Given the description of an element on the screen output the (x, y) to click on. 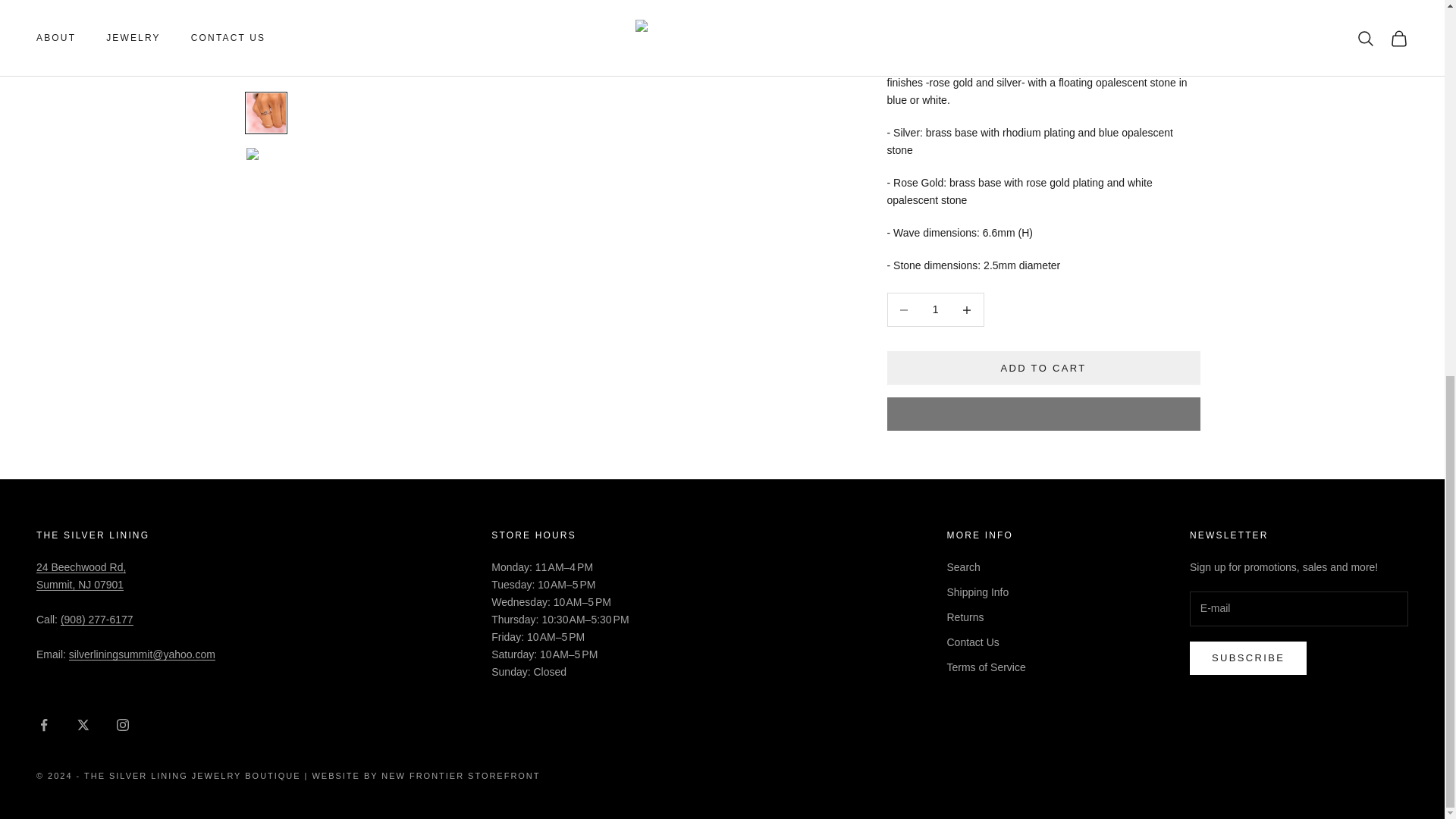
Returns (965, 616)
ADD TO CART (1042, 21)
SUBSCRIBE (1247, 657)
Contact Us (972, 642)
Terms of Service (985, 666)
Shipping Info (977, 592)
Search (80, 575)
